Given the description of an element on the screen output the (x, y) to click on. 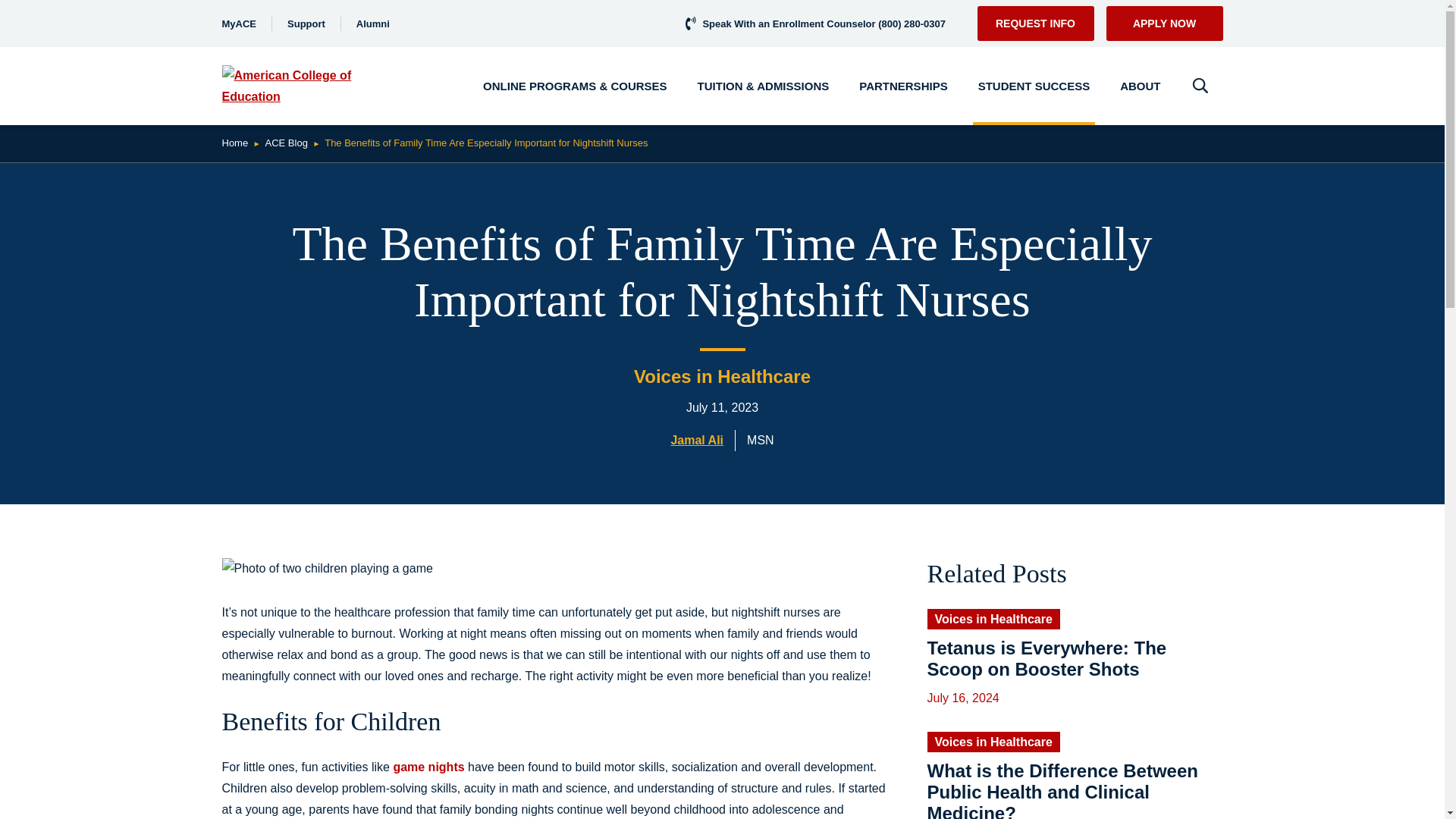
REQUEST INFO (1034, 22)
Alumni (373, 23)
APPLY NOW (1164, 22)
Support (305, 23)
MyACE (238, 23)
